Given the description of an element on the screen output the (x, y) to click on. 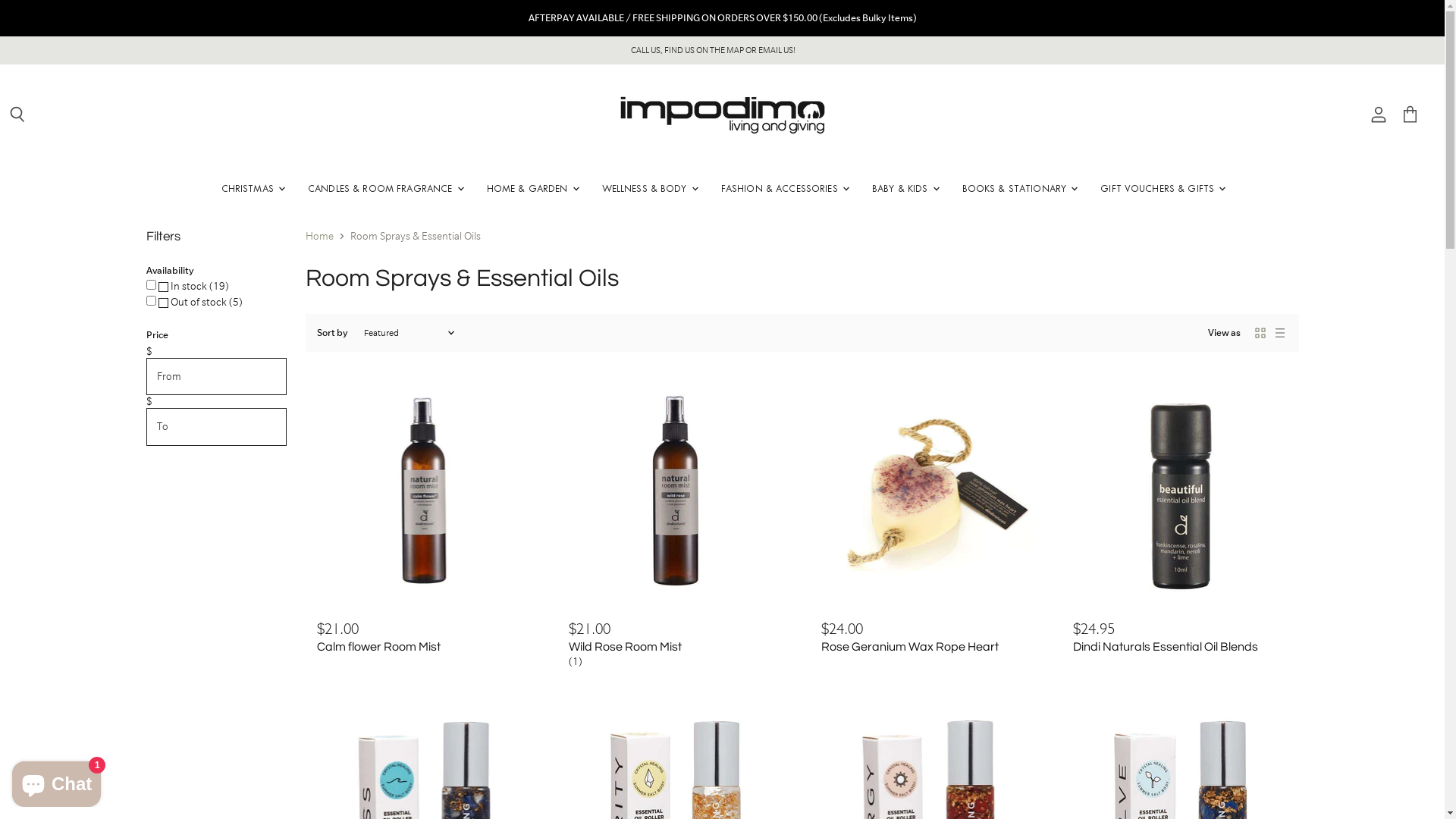
CALL US, FIND US ON THE MAP OR EMAIL US! Element type: text (712, 50)
View cart Element type: text (1409, 114)
Calm flower Room Mist Element type: text (378, 646)
HOME & GARDEN Element type: text (531, 187)
Grid icon Element type: text (1259, 332)
BOOKS & STATIONARY Element type: text (1018, 187)
CHRISTMAS Element type: text (252, 187)
Home Element type: text (318, 235)
List icon Element type: text (1279, 332)
Rose Geranium Wax Rope Heart Element type: text (908, 646)
GIFT VOUCHERS & GIFTS Element type: text (1161, 187)
View account Element type: text (1378, 114)
WELLNESS & BODY Element type: text (648, 187)
CANDLES & ROOM FRAGRANCE Element type: text (384, 187)
Dindi Naturals Essential Oil Blends Element type: text (1165, 646)
FASHION & ACCESSORIES Element type: text (783, 187)
Shopify online store chat Element type: hover (56, 780)
Wild Rose Room Mist Element type: text (624, 646)
BABY & KIDS Element type: text (904, 187)
